Given the description of an element on the screen output the (x, y) to click on. 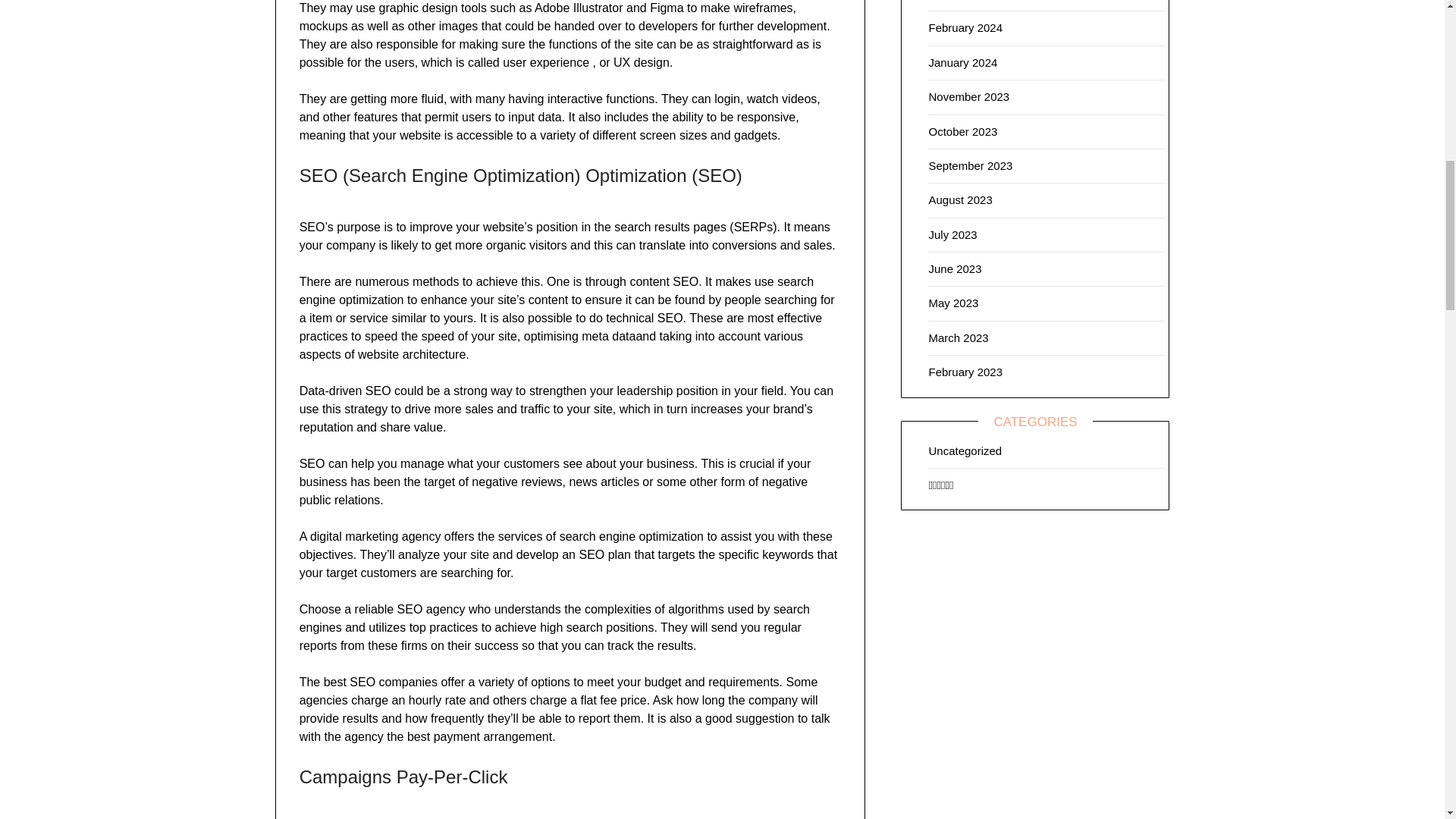
August 2023 (959, 199)
September 2023 (969, 164)
March 2023 (958, 337)
January 2024 (962, 62)
November 2023 (968, 96)
July 2023 (952, 234)
May 2023 (953, 302)
February 2024 (965, 27)
June 2023 (954, 268)
February 2023 (965, 371)
October 2023 (962, 131)
Uncategorized (964, 450)
